Given the description of an element on the screen output the (x, y) to click on. 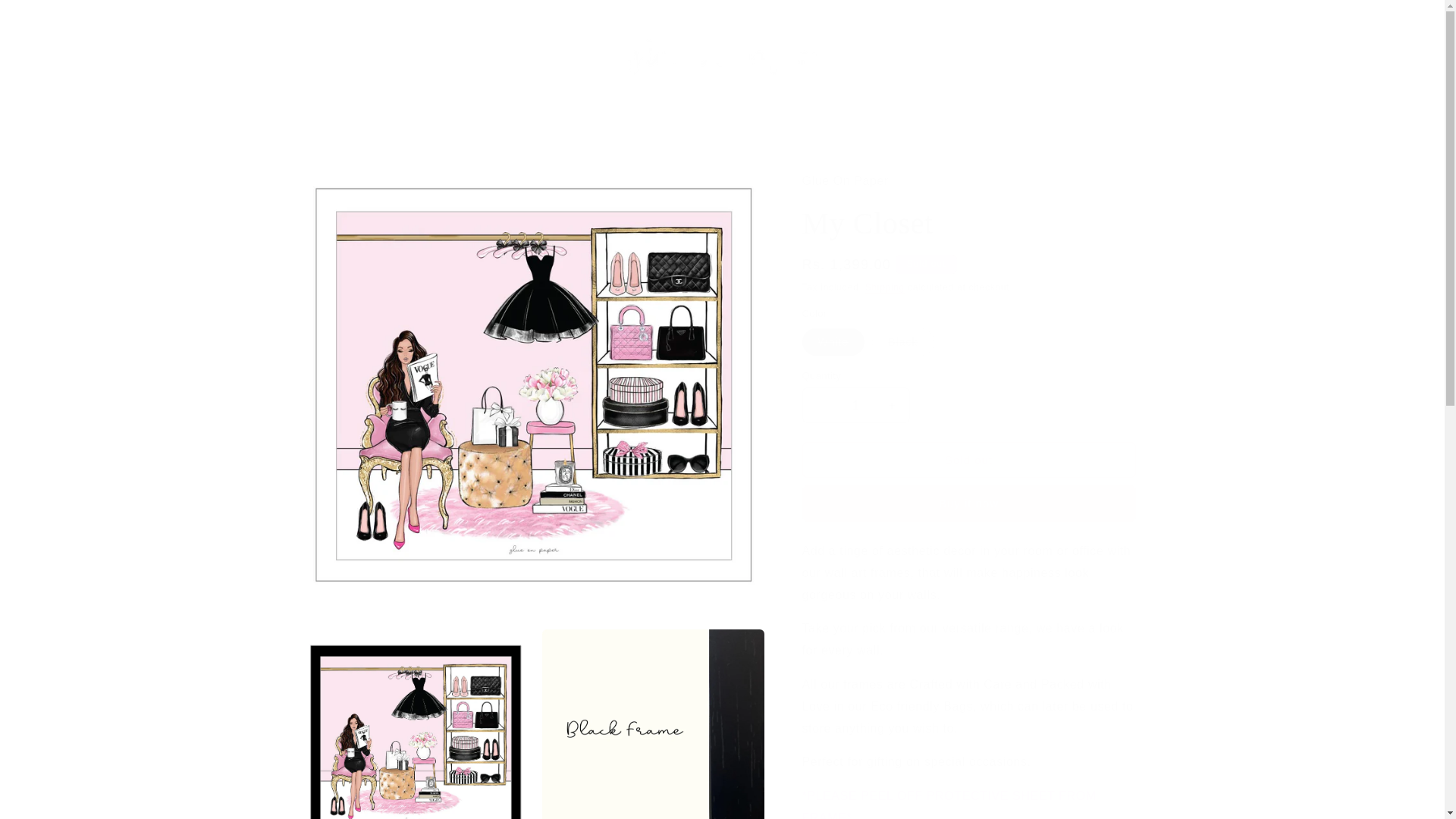
Track Your Order (829, 139)
Combo Sets (812, 106)
Decrease quantity for My Closet (818, 405)
Shipping (884, 286)
Log in (1091, 55)
Our Story (741, 139)
Bridal Shower Games (427, 106)
Increase quantity for My Closet (891, 405)
1 (856, 405)
Contact Us (670, 139)
Home (338, 106)
Meal planner (534, 106)
Gift Store (1096, 106)
Skip to product information (350, 172)
